Given the description of an element on the screen output the (x, y) to click on. 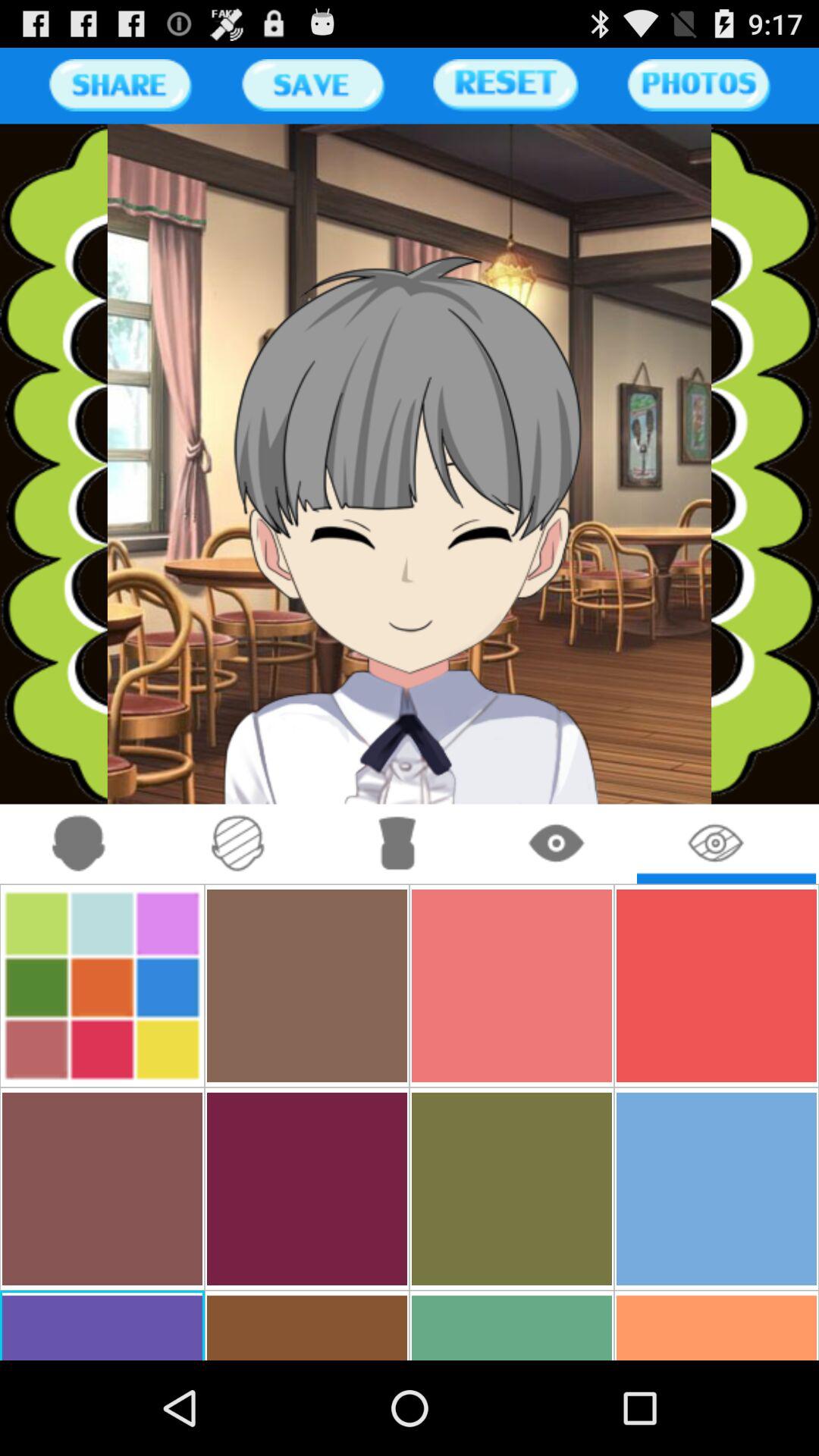
share the page (119, 85)
